Given the description of an element on the screen output the (x, y) to click on. 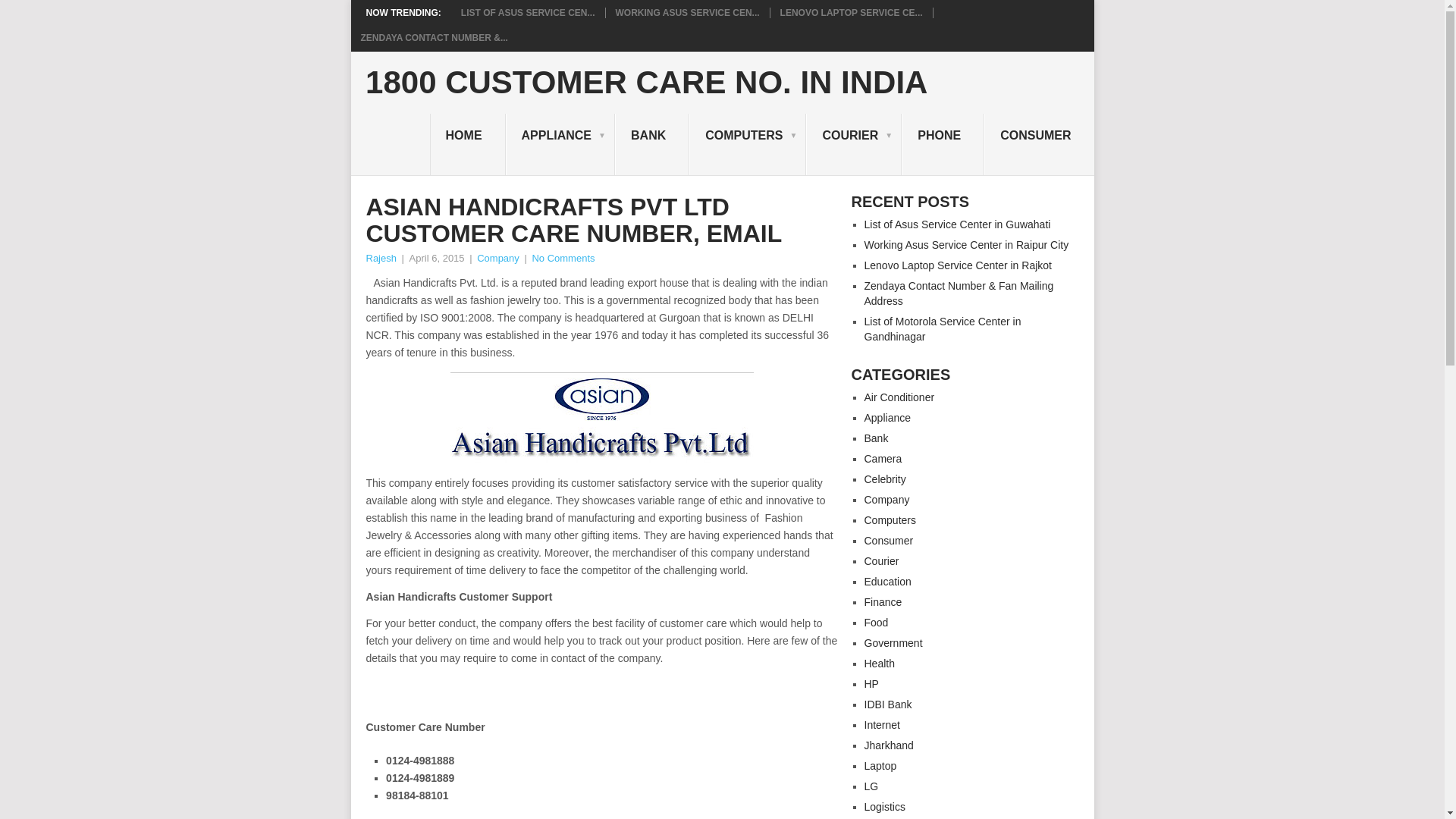
COMPUTERS (747, 144)
HOME (467, 144)
LIST OF ASUS SERVICE CEN... (528, 12)
Working Asus Service Center in Raipur City (687, 12)
Company (498, 257)
CONSUMER (1038, 144)
COURIER (853, 144)
LENOVO LAPTOP SERVICE CE... (851, 12)
BANK (651, 144)
Rajesh (380, 257)
Lenovo Laptop Service Center in Rajkot (851, 12)
1800 CUSTOMER CARE NO. IN INDIA (646, 82)
APPLIANCE (559, 144)
Posts by Rajesh (380, 257)
List of Asus Service Center in Guwahati (528, 12)
